Given the description of an element on the screen output the (x, y) to click on. 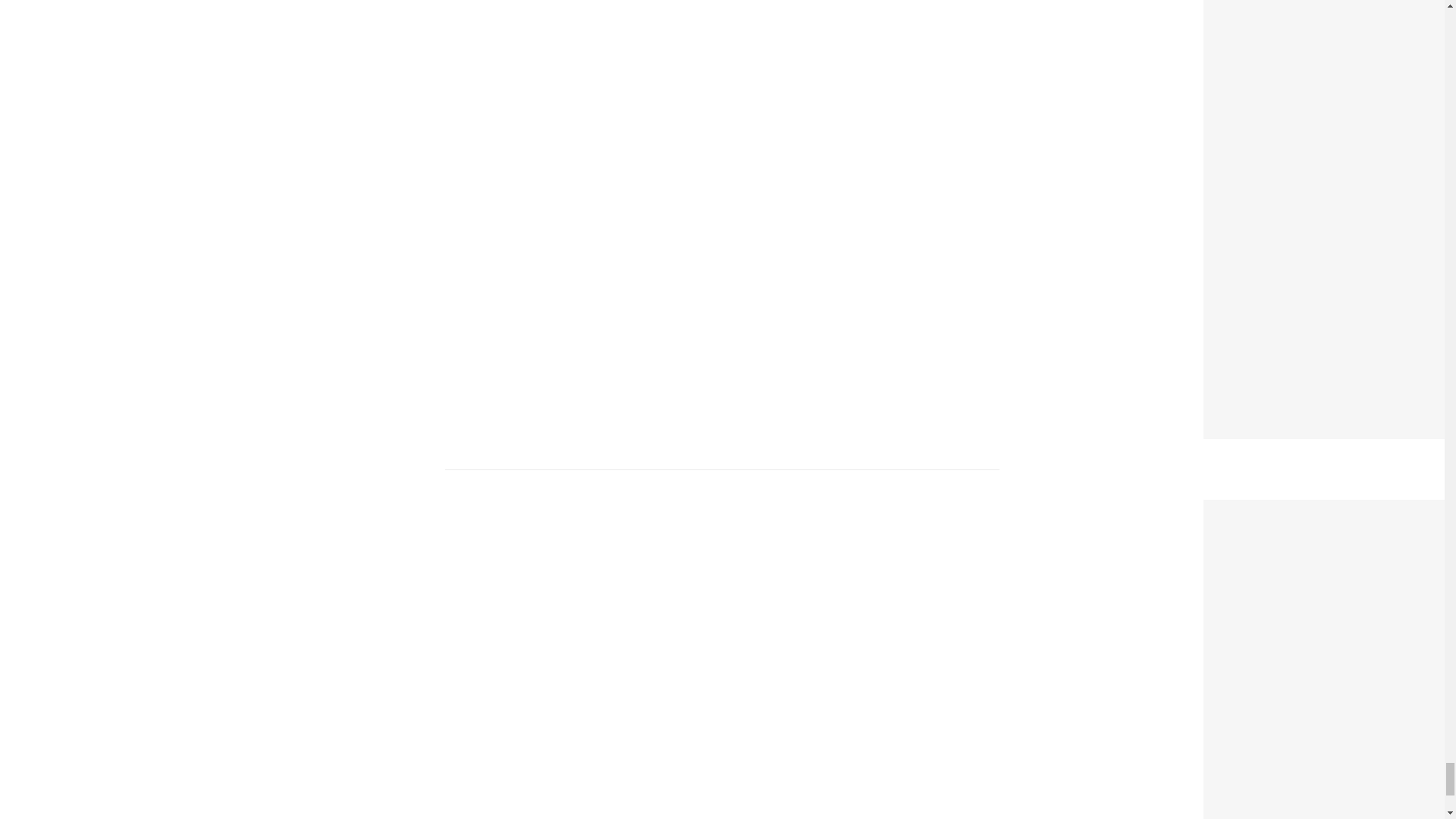
Can A Pond Liner Be Repaired (1302, 509)
